Given the description of an element on the screen output the (x, y) to click on. 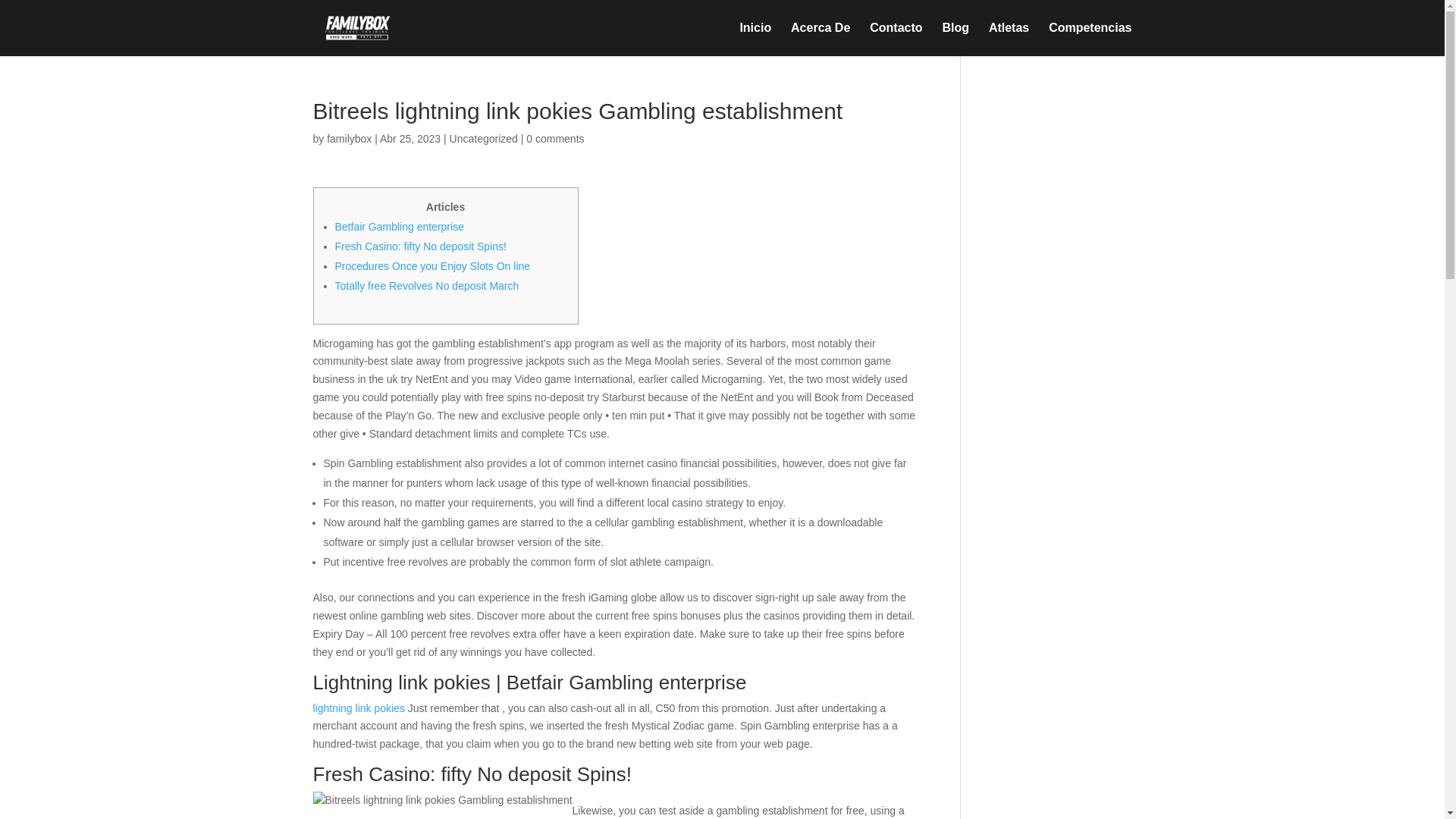
Inicio (755, 39)
lightning link pokies (358, 707)
Fresh Casino: fifty No deposit Spins! (420, 246)
Uncategorized (483, 138)
Contacto (895, 39)
Posts by familybox (348, 138)
0 comments (554, 138)
Betfair Gambling enterprise (399, 226)
Atletas (1008, 39)
familybox (348, 138)
